Given the description of an element on the screen output the (x, y) to click on. 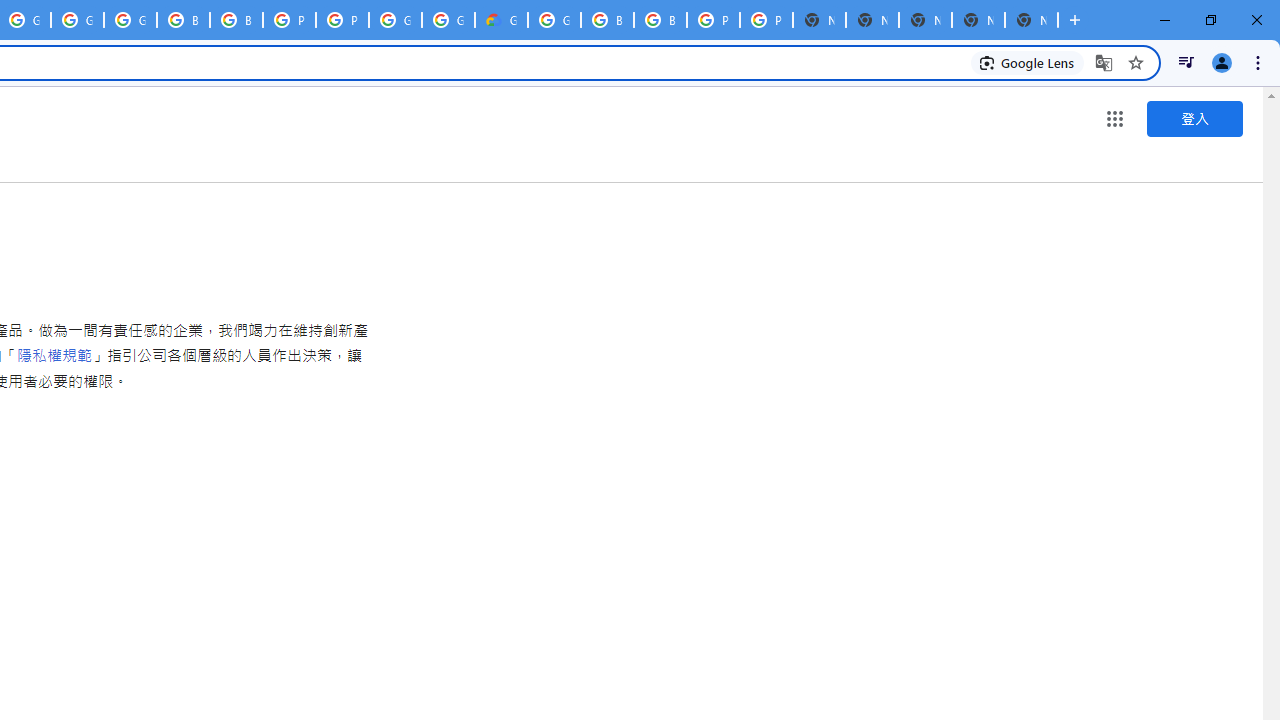
Browse Chrome as a guest - Computer - Google Chrome Help (607, 20)
New Tab (1031, 20)
Google Cloud Estimate Summary (501, 20)
Browse Chrome as a guest - Computer - Google Chrome Help (183, 20)
Browse Chrome as a guest - Computer - Google Chrome Help (235, 20)
Browse Chrome as a guest - Computer - Google Chrome Help (660, 20)
Google Cloud Platform (448, 20)
